Given the description of an element on the screen output the (x, y) to click on. 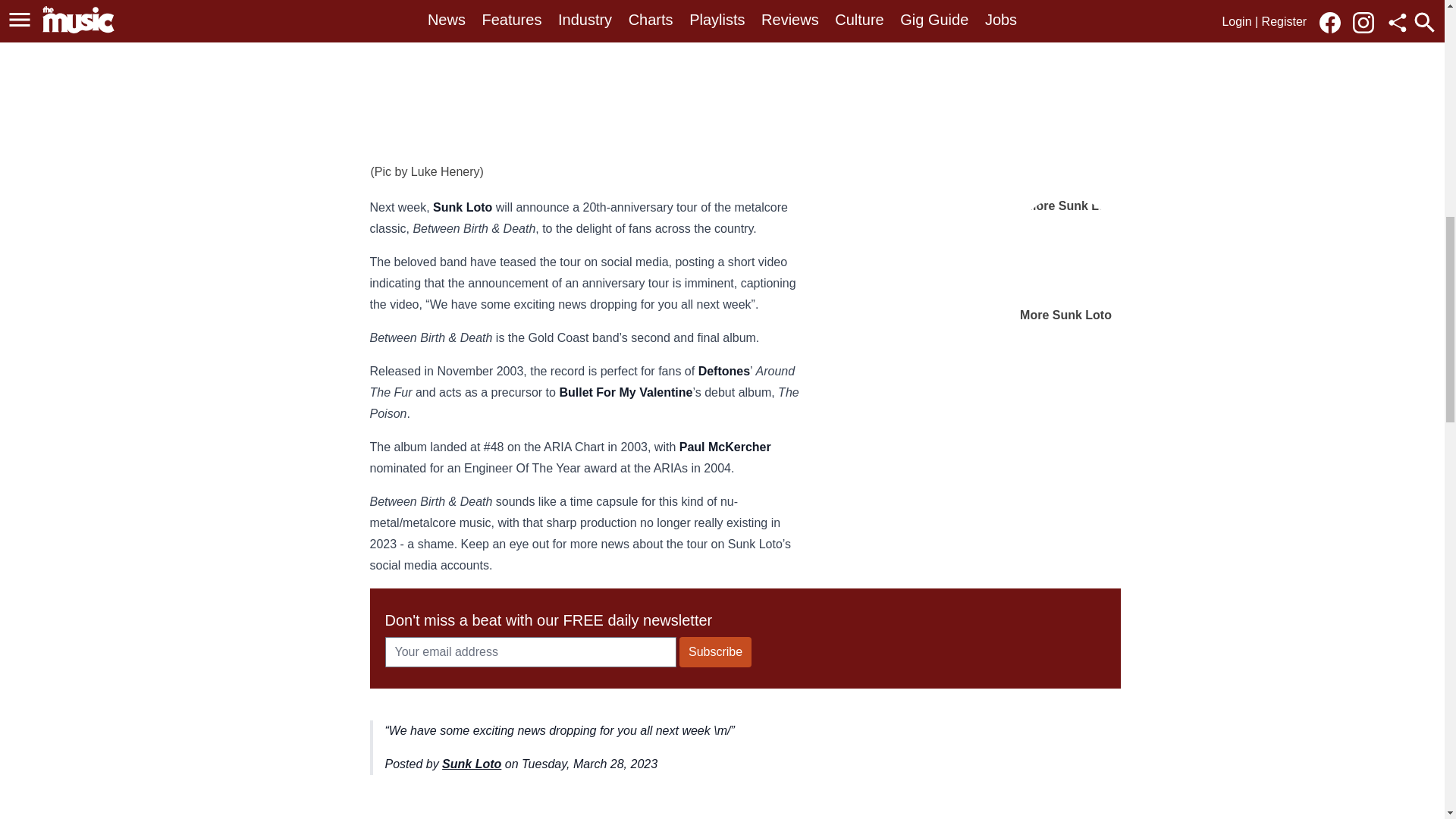
Sunk Loto (471, 763)
Subscribe (715, 652)
